Given the description of an element on the screen output the (x, y) to click on. 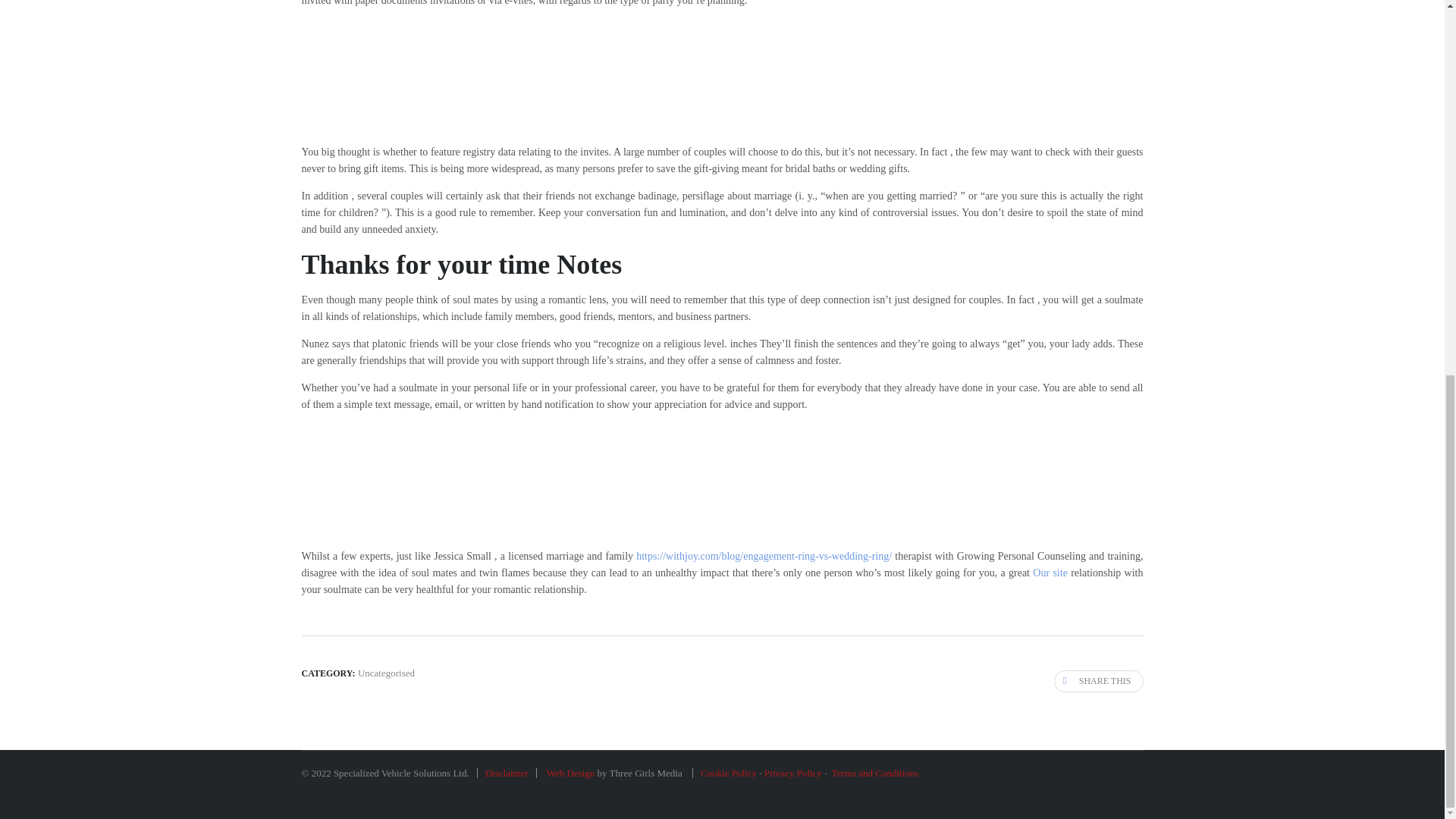
Uncategorised (386, 672)
Web Design (569, 772)
Share this (1098, 681)
Our site (1049, 572)
Disclaimer (506, 772)
Cookie Policy (728, 772)
Privacy Policy (793, 772)
SHARE THIS (1098, 681)
Terms and Conditions (874, 772)
